Given the description of an element on the screen output the (x, y) to click on. 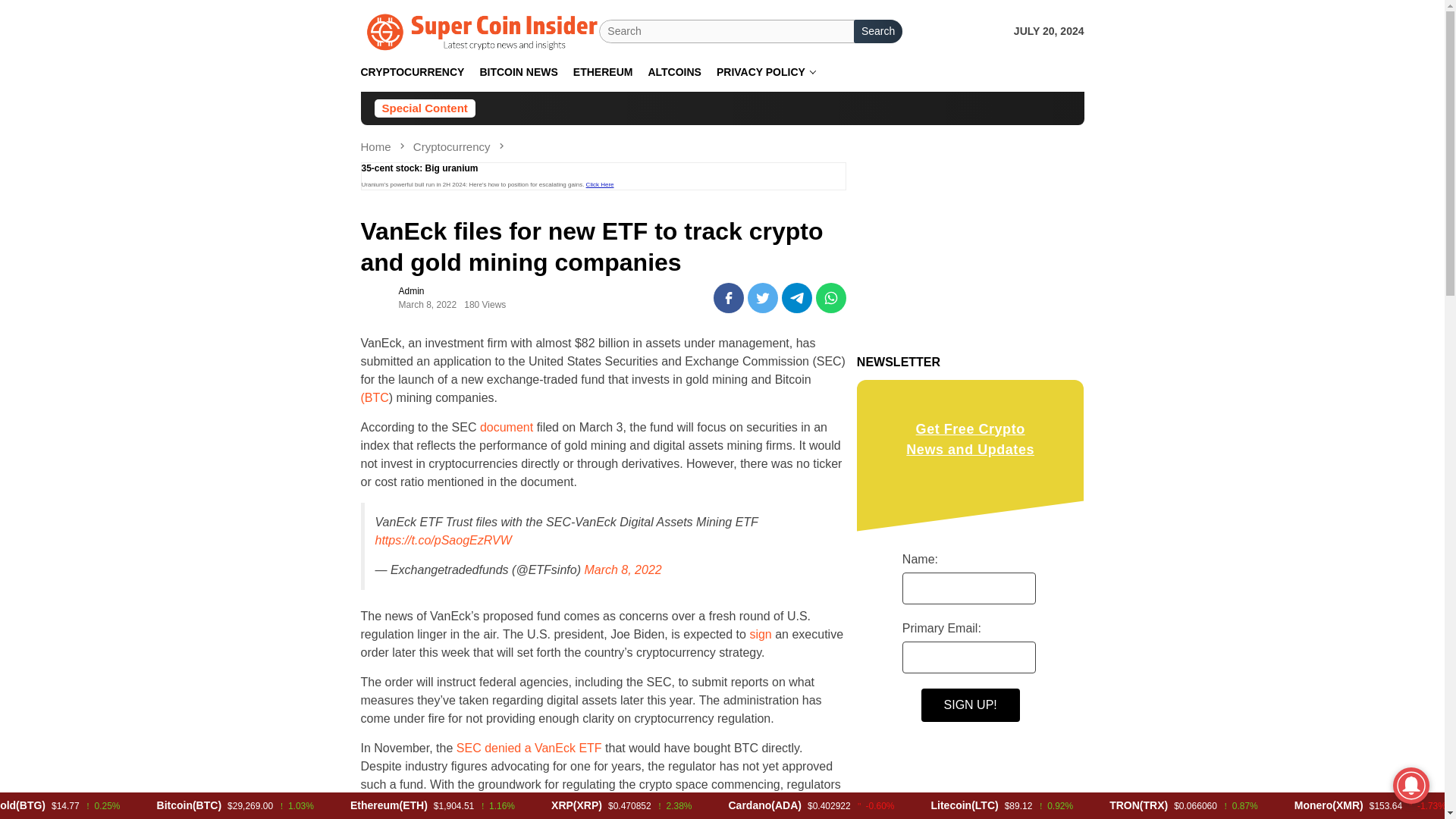
CRYPTOCURRENCY (412, 72)
sign (760, 634)
Super Coin Insider (480, 31)
Super Coin Insider (480, 30)
SIGN UP! (970, 704)
BITCOIN NEWS (517, 72)
PRIVACY POLICY (766, 72)
Cryptocurrency (453, 146)
WhatsApp this (830, 297)
ALTCOINS (674, 72)
document (506, 427)
Admin (411, 290)
Search (877, 31)
Telegram Share (796, 297)
Home (377, 146)
